Given the description of an element on the screen output the (x, y) to click on. 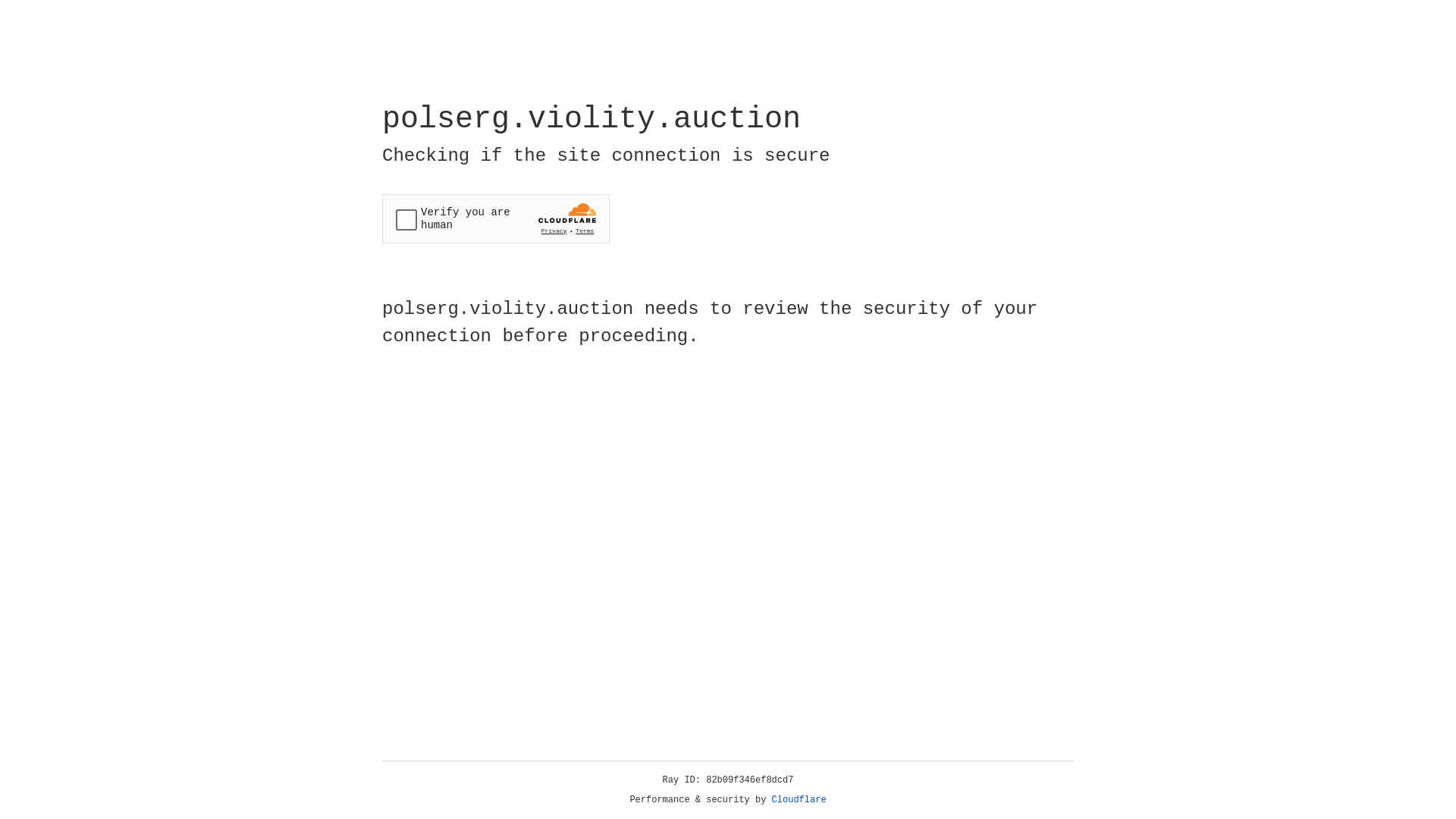
Cloudflare Element type: text (798, 799)
Widget containing a Cloudflare security challenge Element type: hover (495, 218)
